Given the description of an element on the screen output the (x, y) to click on. 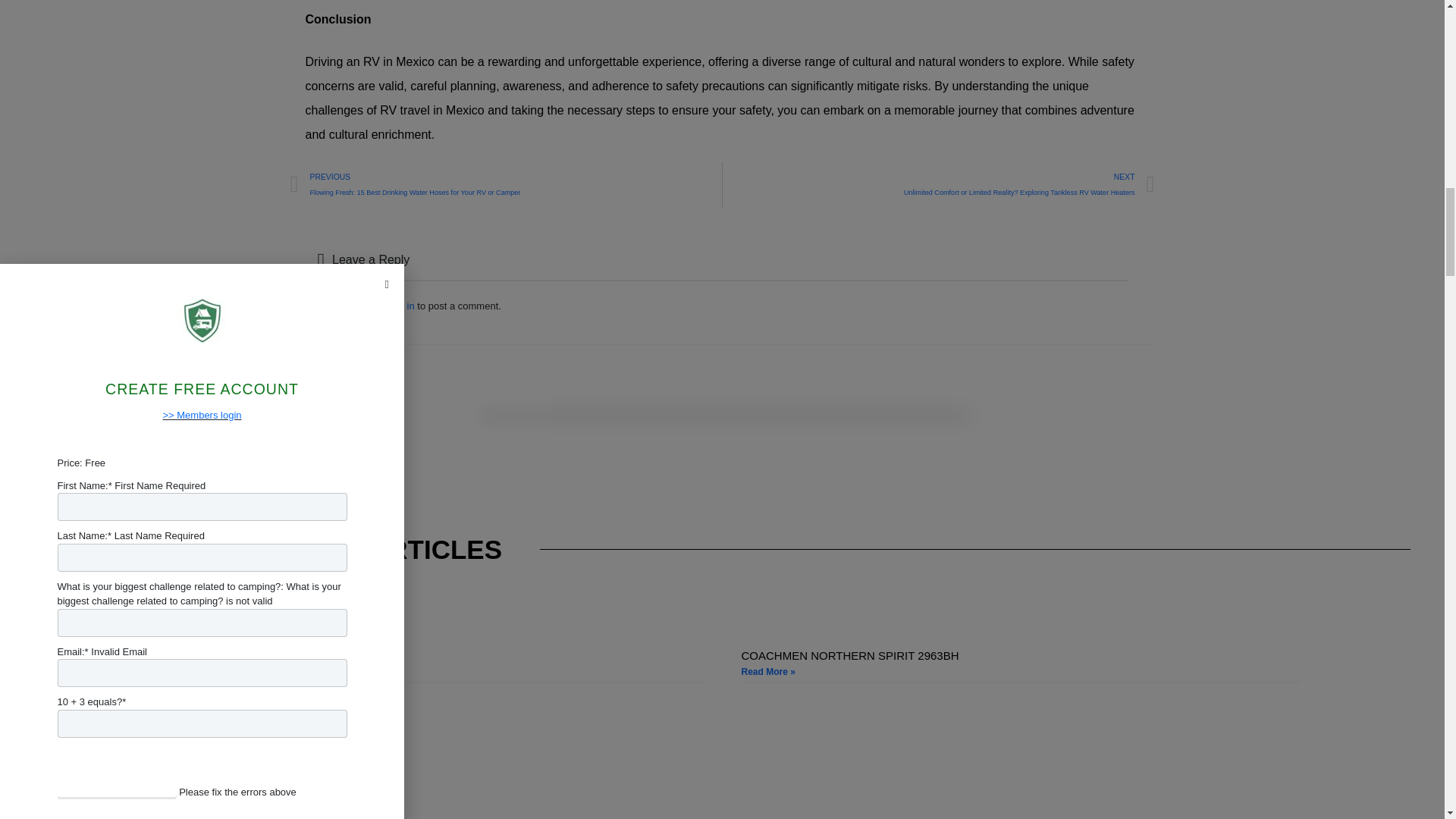
COACHMEN NORTHERN SPIRIT 2963BH (850, 655)
logged in (394, 306)
FOREST RIVER IBEX RVS1 (216, 655)
